Given the description of an element on the screen output the (x, y) to click on. 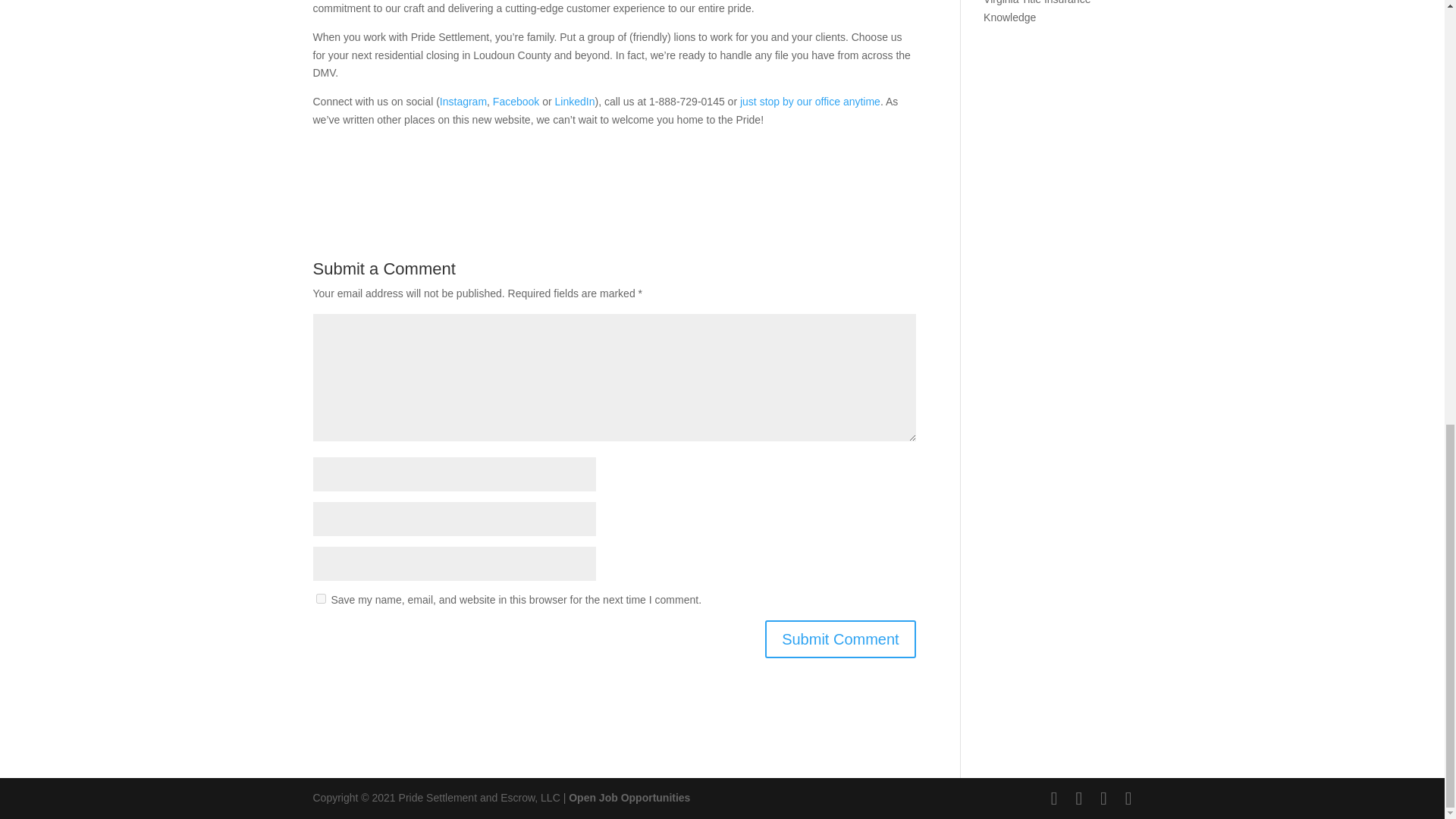
yes (319, 598)
Submit Comment (840, 638)
Submit Comment (840, 638)
Instagram (462, 101)
Facebook (515, 101)
just stop by our office anytime (809, 101)
LinkedIn (574, 101)
Virginia Title Insurance Knowledge (1037, 11)
